Given the description of an element on the screen output the (x, y) to click on. 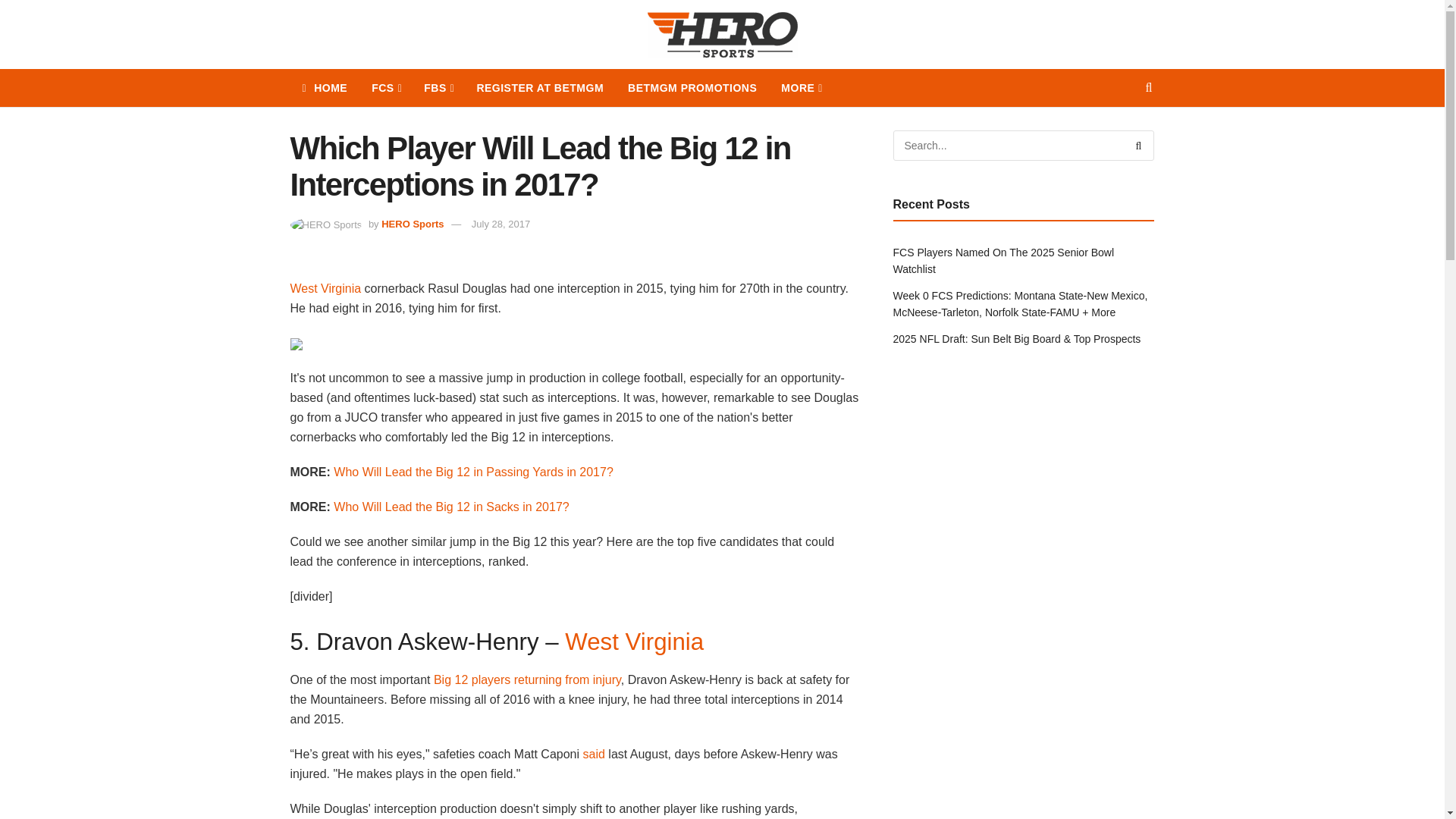
BETMGM PROMOTIONS (691, 87)
FCS (385, 87)
FBS (438, 87)
REGISTER AT BETMGM (539, 87)
MORE (800, 87)
HOME (324, 87)
